Given the description of an element on the screen output the (x, y) to click on. 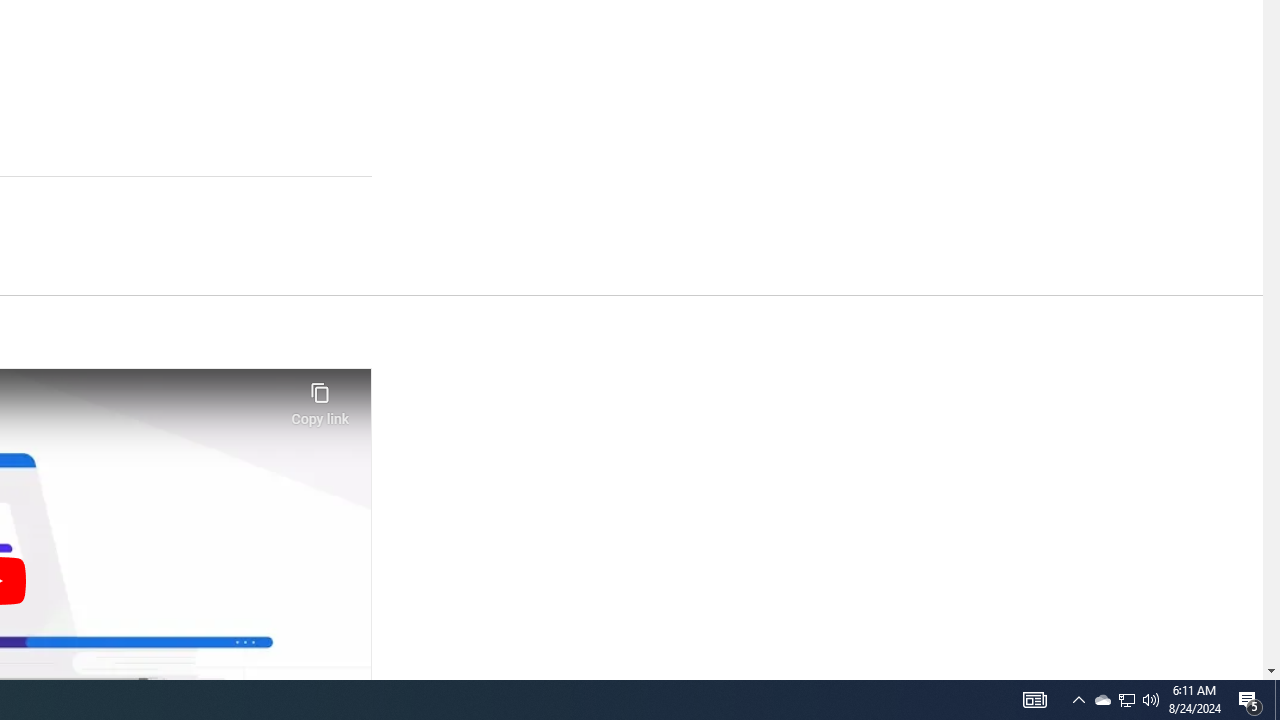
Copy link (319, 398)
